Given the description of an element on the screen output the (x, y) to click on. 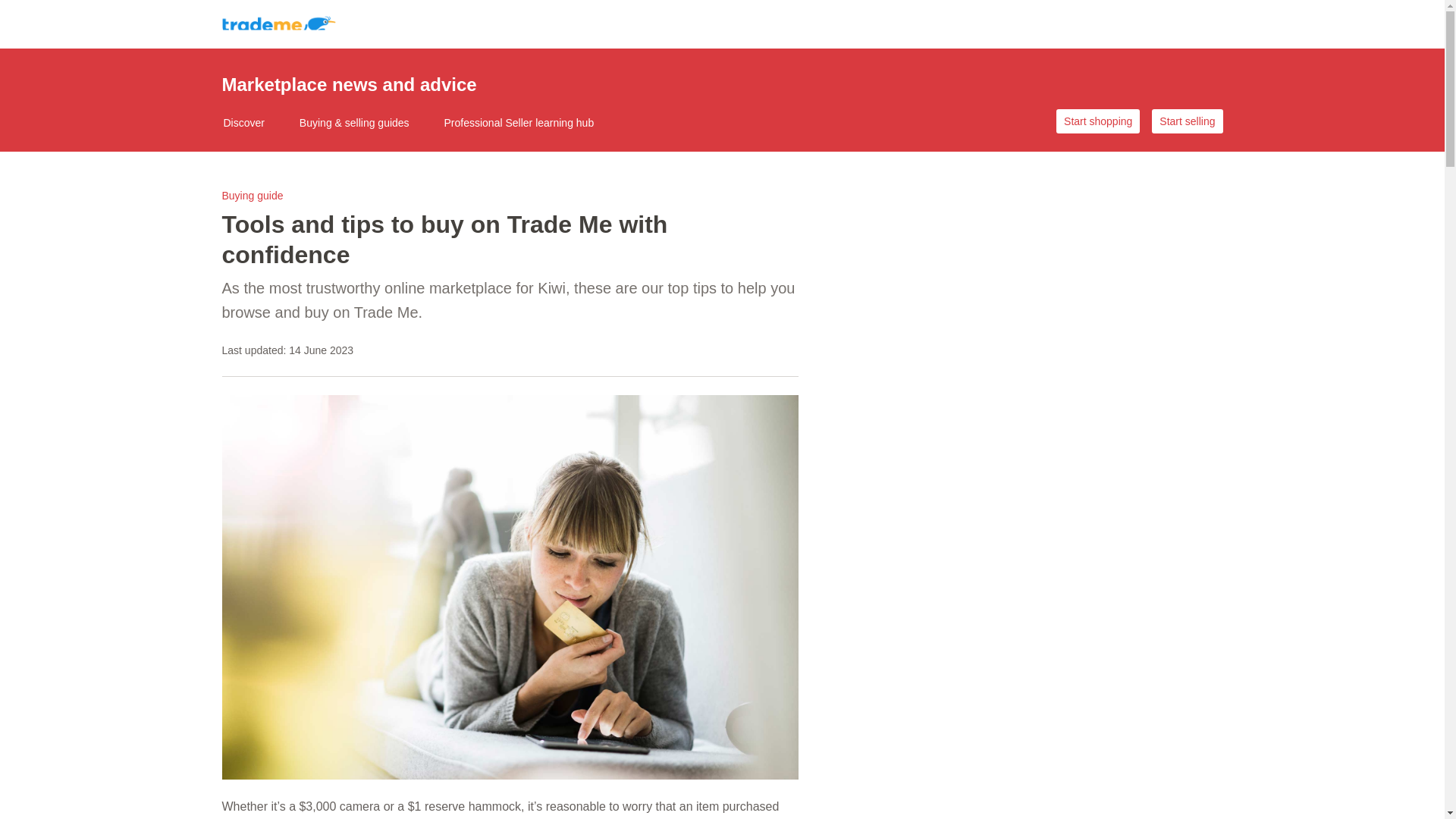
Discover (253, 122)
Start selling (1187, 120)
Start shopping (1098, 120)
Professional Seller learning hub (528, 122)
